Given the description of an element on the screen output the (x, y) to click on. 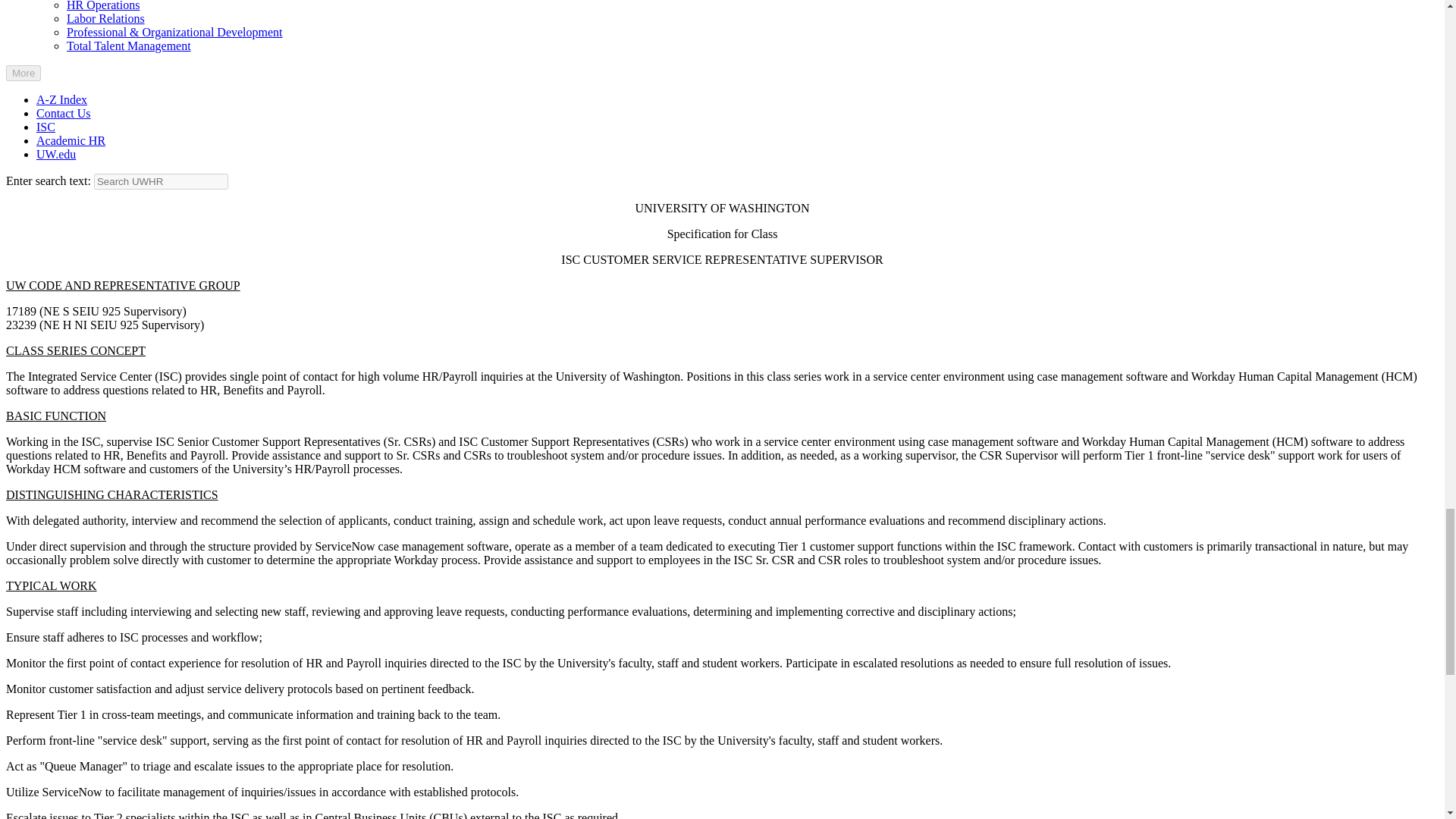
Search for: (161, 181)
